Given the description of an element on the screen output the (x, y) to click on. 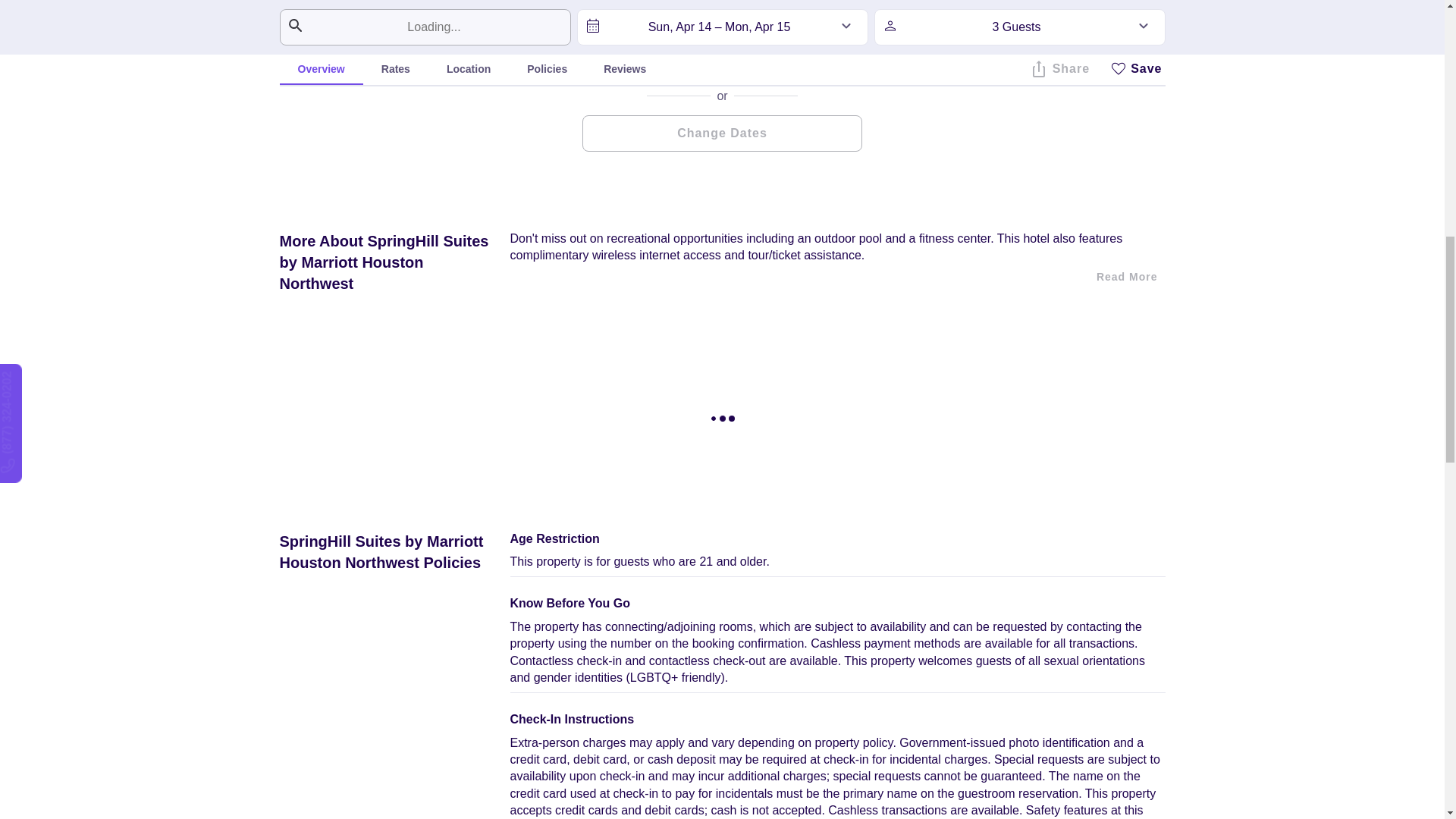
Change Dates (721, 133)
Search Nearby (721, 58)
Read More (1127, 276)
